Given the description of an element on the screen output the (x, y) to click on. 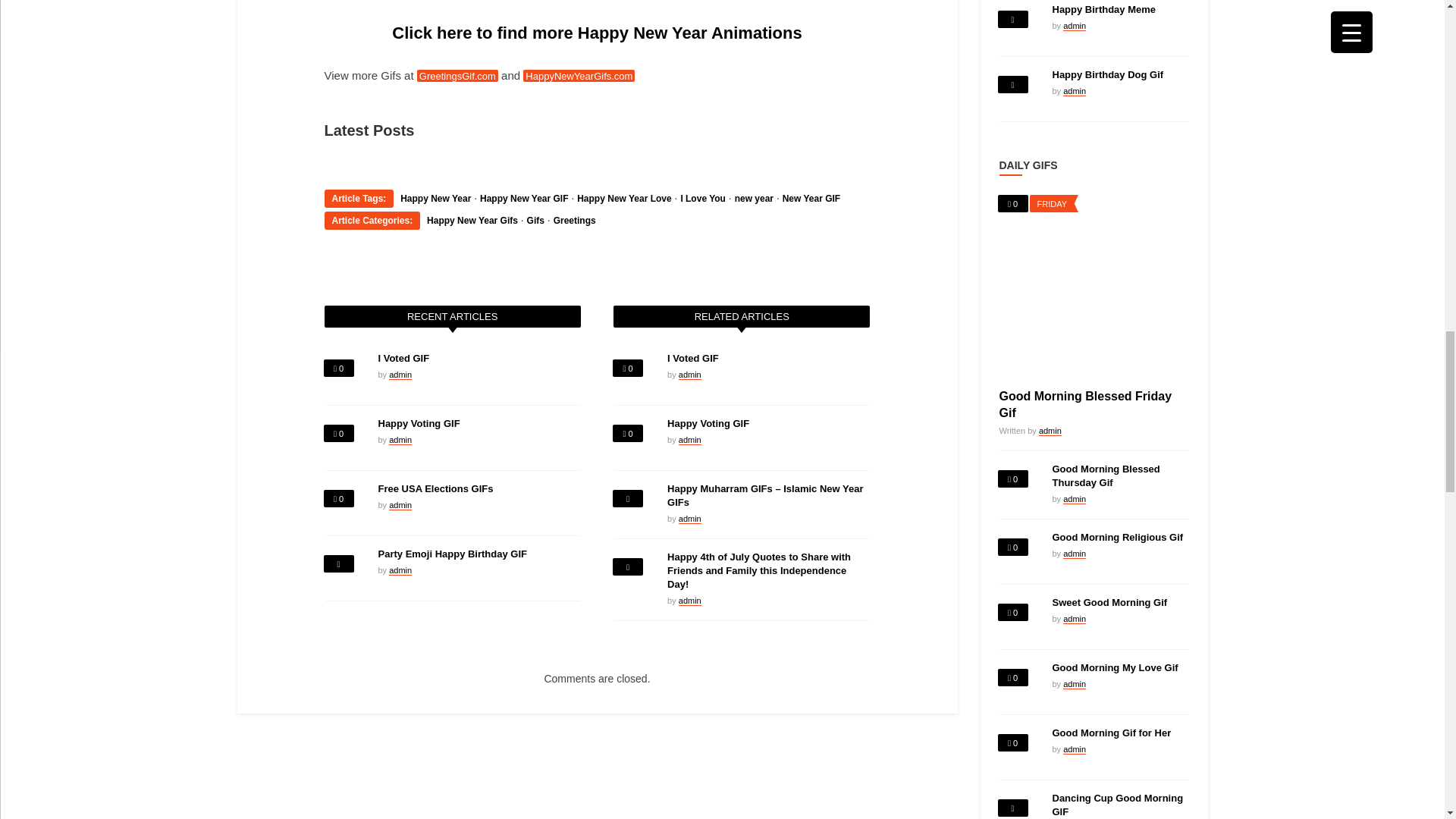
Posts by admin (400, 375)
Posts by admin (689, 375)
Posts by admin (689, 439)
Posts by admin (689, 601)
Posts by admin (400, 505)
Posts by admin (400, 439)
Posts by admin (689, 519)
Posts by admin (400, 570)
